Given the description of an element on the screen output the (x, y) to click on. 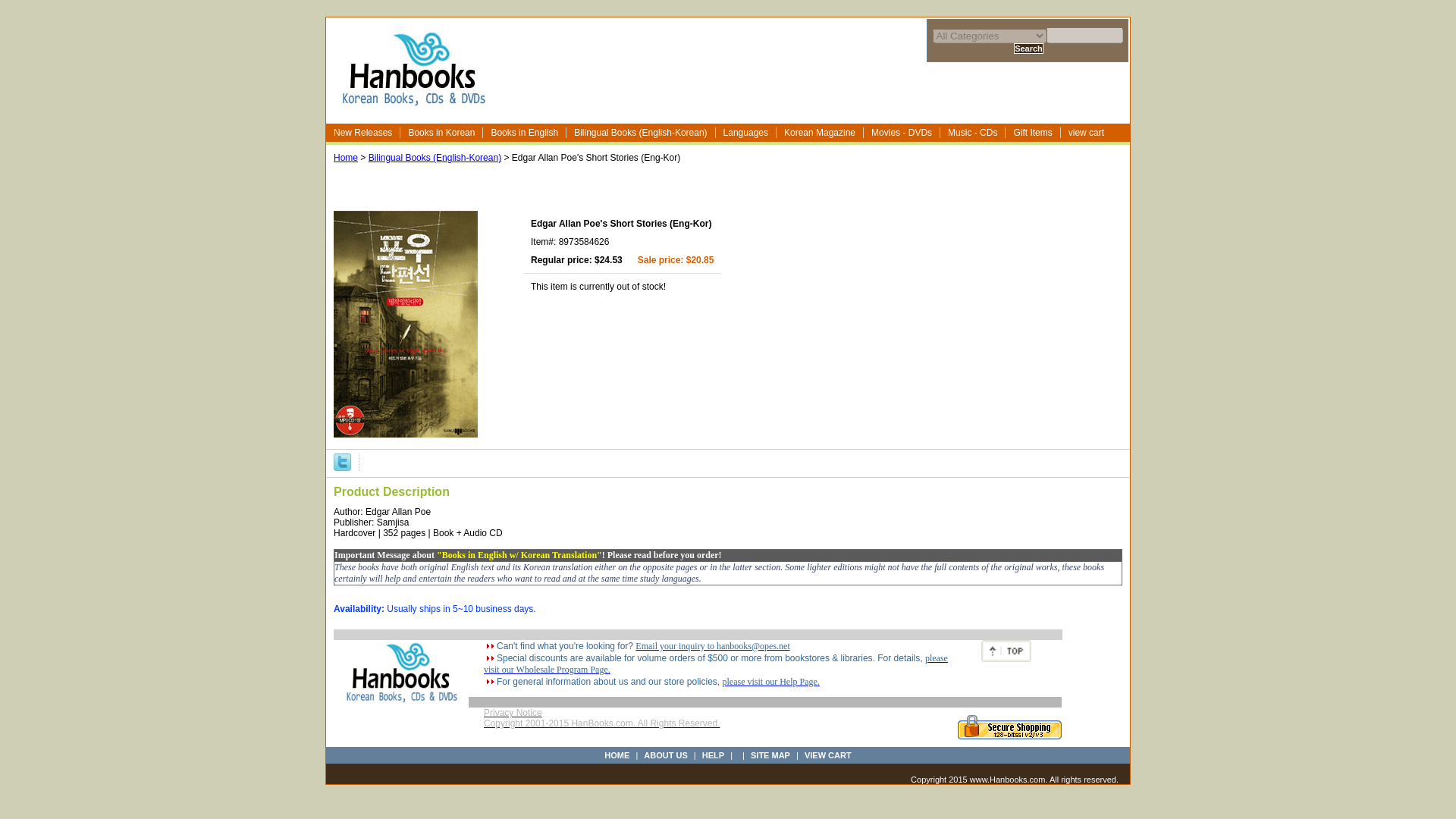
Music - CDs (973, 132)
please visit our Wholesale Program Page. (715, 663)
Korean Magazine (819, 132)
Languages (746, 132)
Gift Items (1032, 132)
SITE MAP (769, 755)
view cart (1088, 132)
Tweet (341, 461)
Search (1028, 48)
Search (1028, 48)
view cart (1088, 132)
please visit our Help Page. (770, 681)
ABOUT US (665, 755)
Privacy Notice (512, 712)
Movies - DVDs (901, 132)
